Given the description of an element on the screen output the (x, y) to click on. 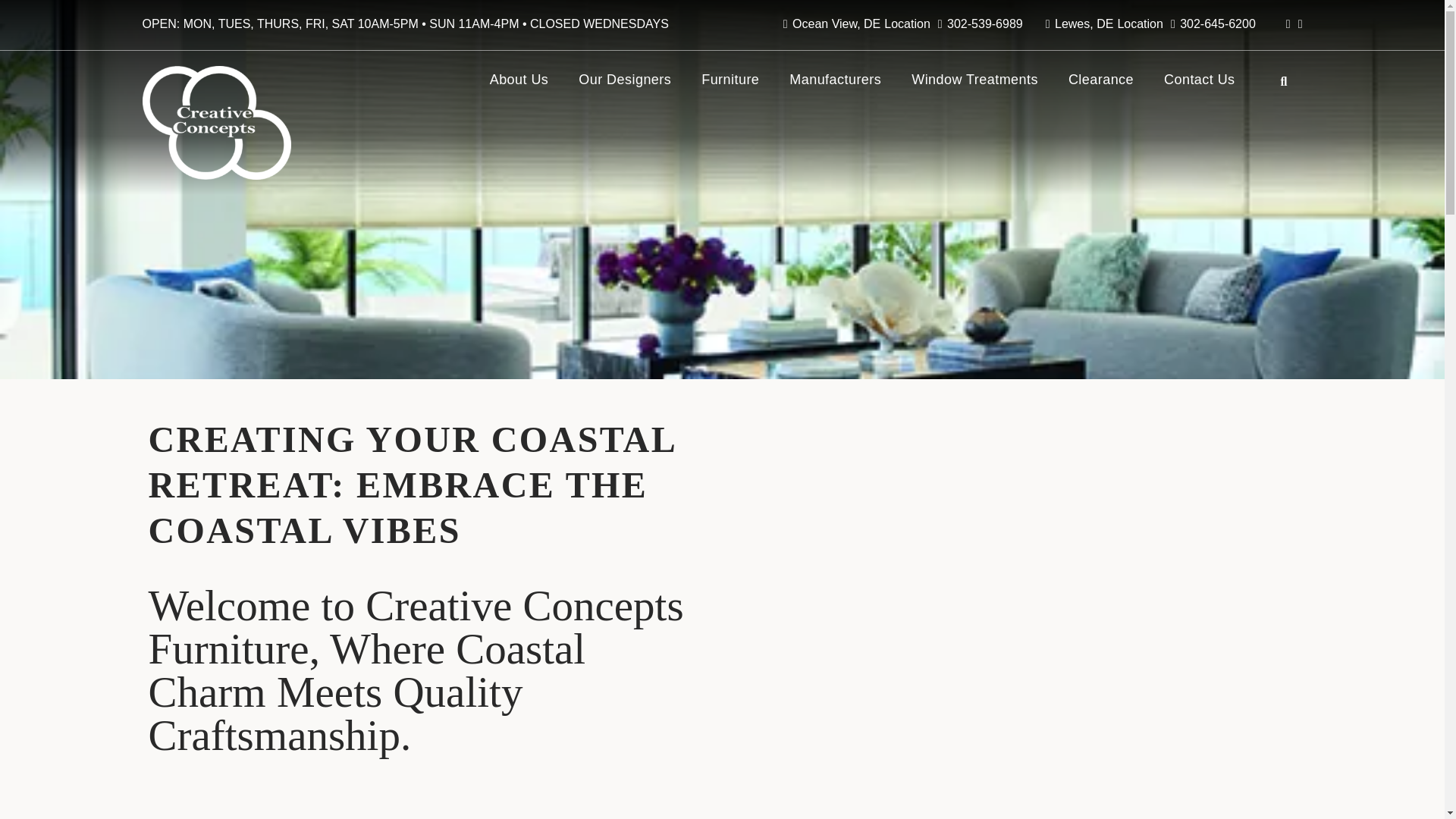
Creative Concepts (217, 122)
302-645-6200 (1212, 25)
Furniture (729, 81)
About Us (518, 81)
Ocean View, DELocation (856, 25)
302-539-6989 (980, 25)
Our Designers (624, 81)
Lewes, DELocation (1104, 25)
